Given the description of an element on the screen output the (x, y) to click on. 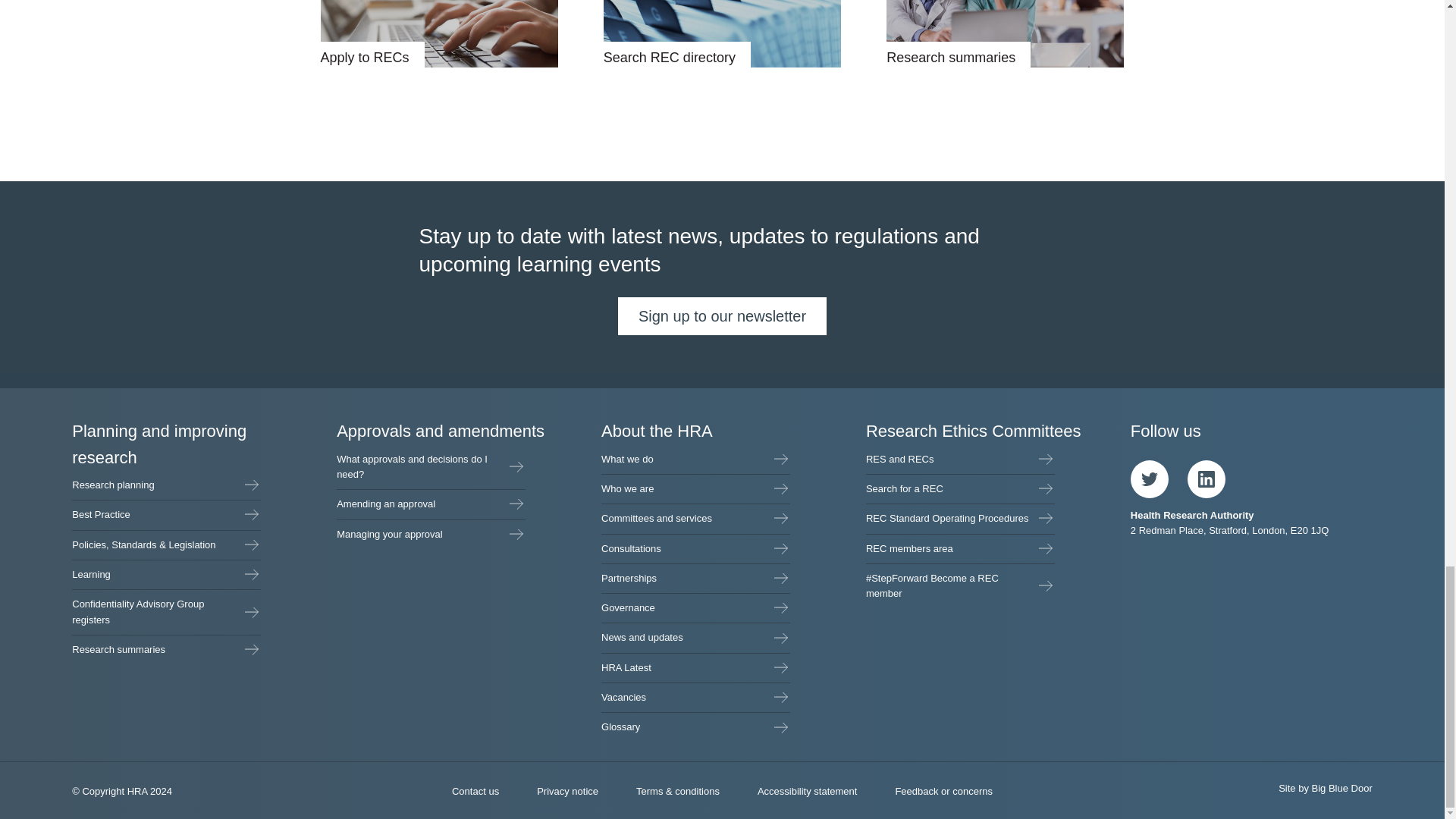
Research summaries (165, 649)
Apply to RECs (438, 33)
Research summaries (1005, 33)
Learning (165, 574)
Managing your approval (430, 534)
What approvals and decisions do I need? (430, 467)
Research planning (165, 484)
Sign up to our newsletter (722, 315)
Amending an approval (430, 503)
Confidentiality Advisory Group registers (165, 611)
Best Practice (165, 514)
Sign up to our newsletter (722, 315)
Search REC directory (722, 33)
